Given the description of an element on the screen output the (x, y) to click on. 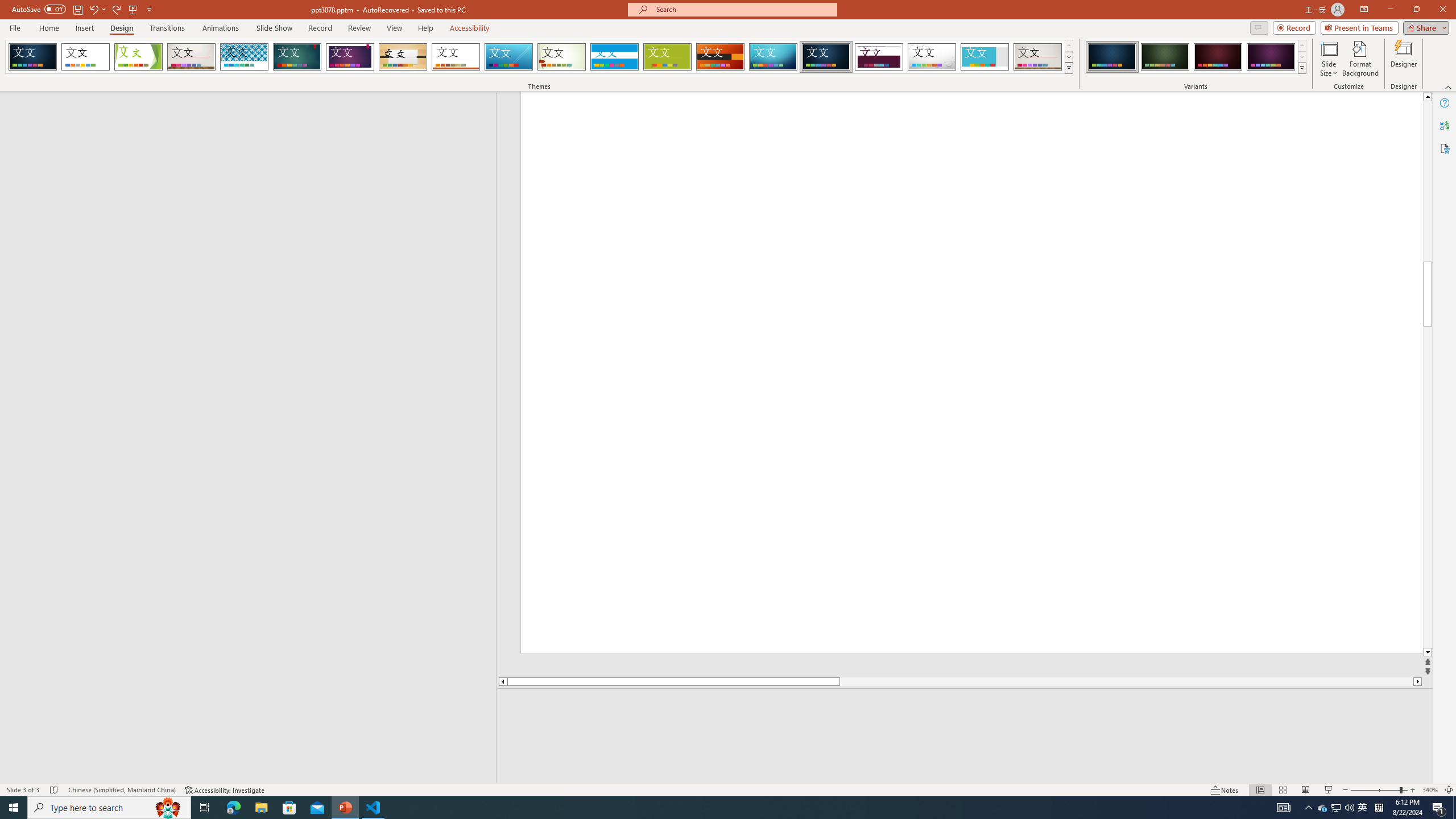
Facet (138, 56)
Berlin (720, 56)
